Given the description of an element on the screen output the (x, y) to click on. 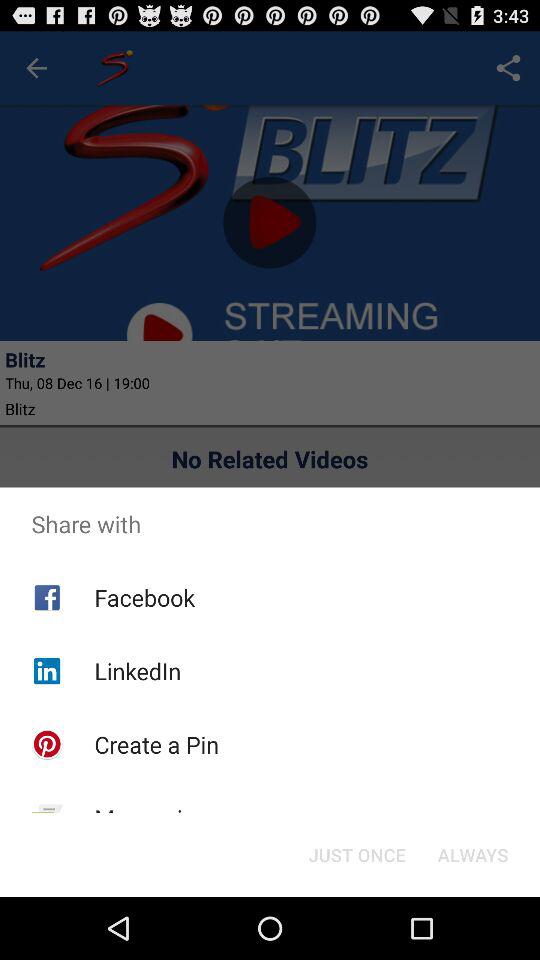
select app above the linkedin (144, 597)
